Given the description of an element on the screen output the (x, y) to click on. 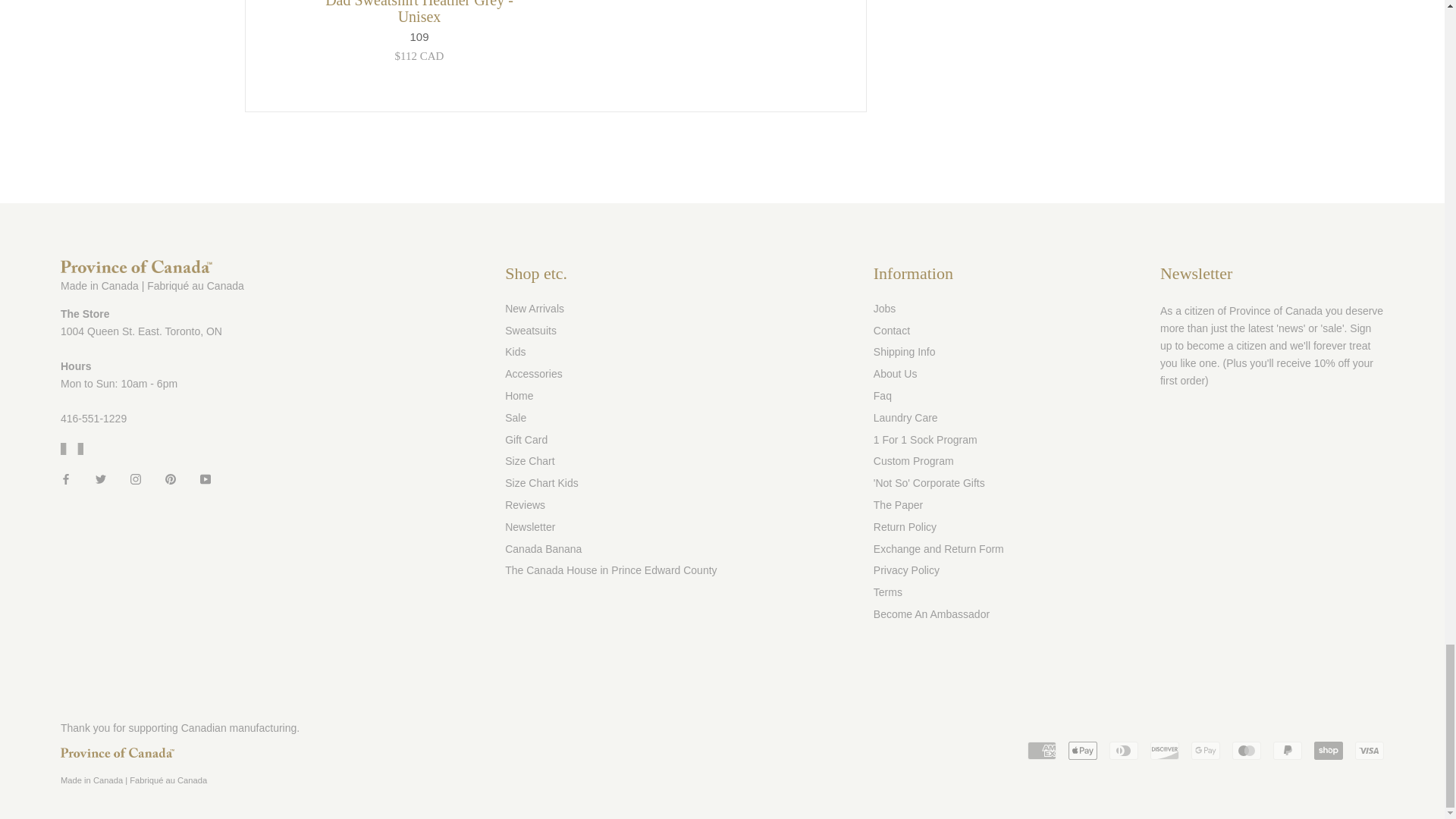
Discover (1164, 751)
Shop Pay (1328, 751)
Diners Club (1123, 751)
Google Pay (1205, 751)
American Express (1042, 751)
Visa (1369, 751)
Province of Canada (117, 752)
Mastercard (1245, 751)
PayPal (1286, 751)
Apple Pay (1082, 751)
